Given the description of an element on the screen output the (x, y) to click on. 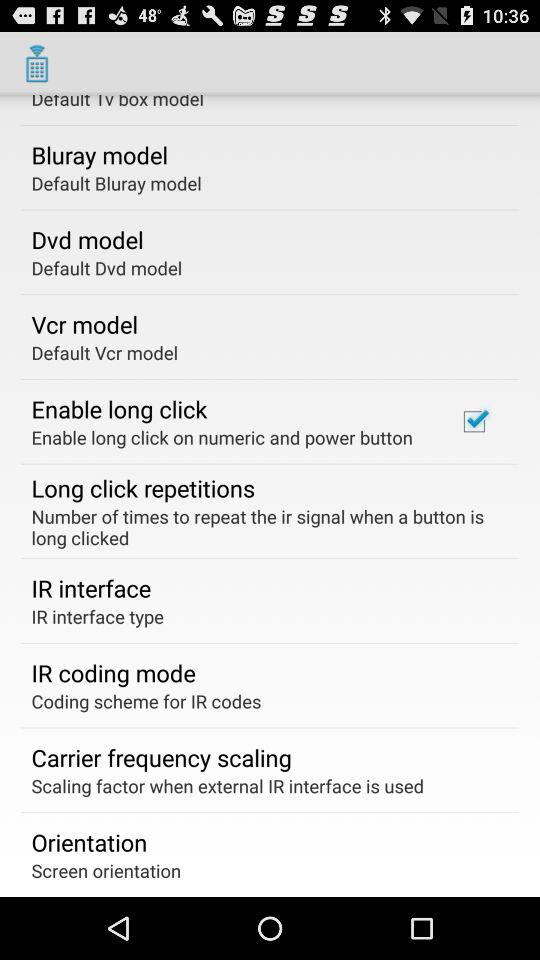
select the app at the bottom (227, 785)
